Given the description of an element on the screen output the (x, y) to click on. 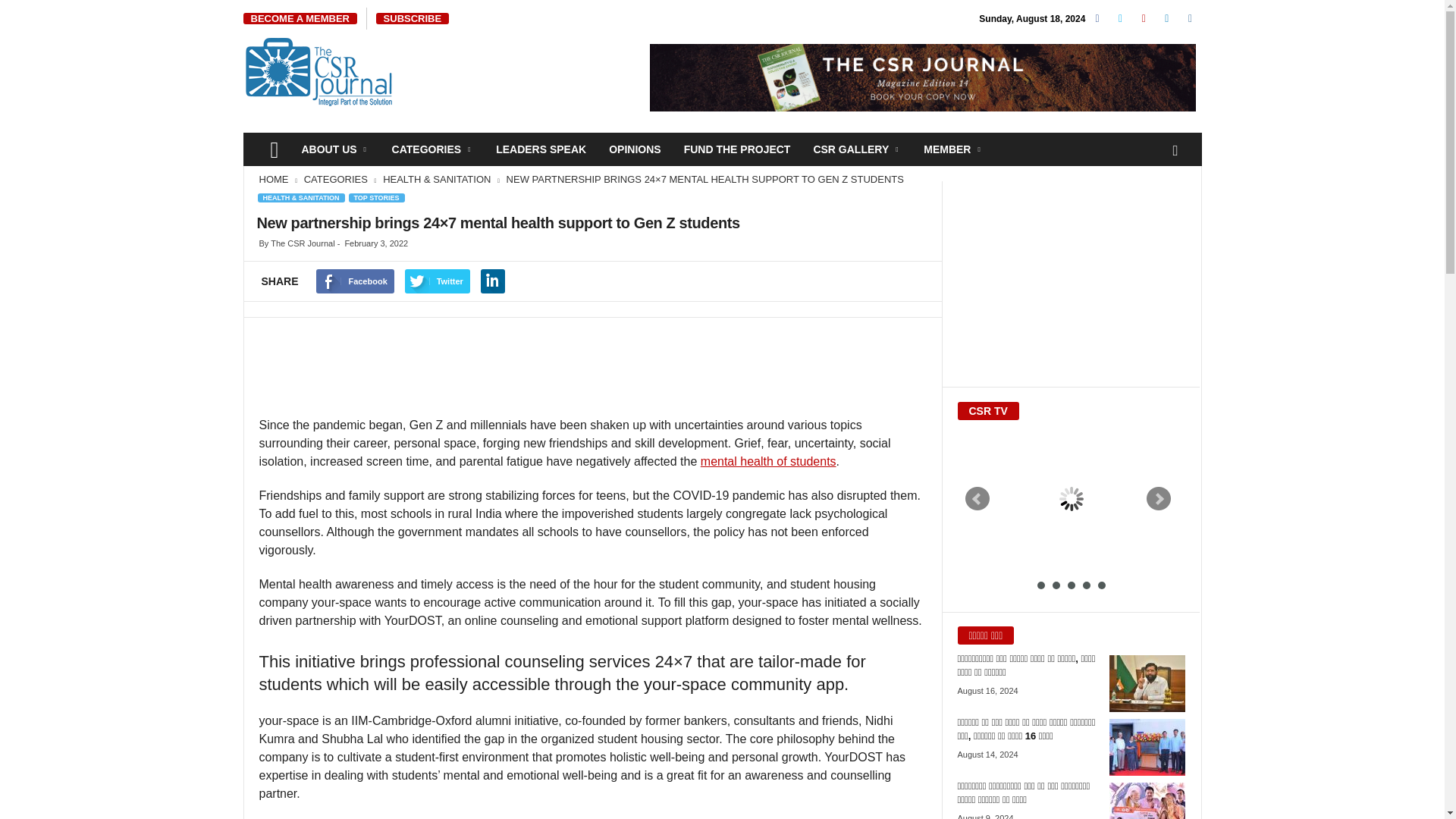
BECOME A MEMBER (299, 18)
SUBSCRIBE (412, 18)
Advertisement (592, 371)
View all posts in CATEGORIES (337, 179)
